Given the description of an element on the screen output the (x, y) to click on. 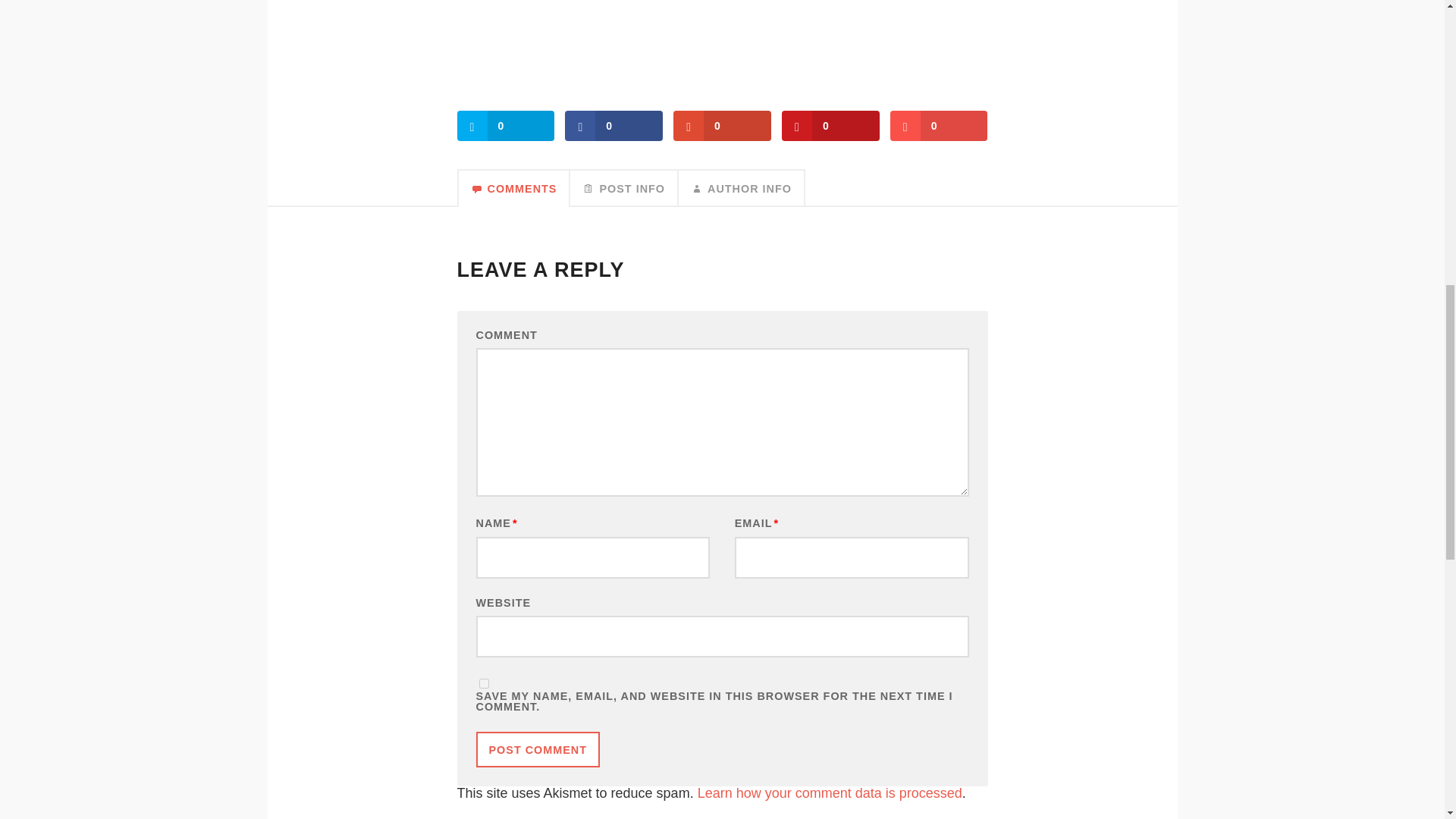
Advertisement (722, 43)
Learn how your comment data is processed (829, 792)
POST INFO (624, 187)
0 (613, 125)
0 (938, 125)
yes (484, 683)
0 (721, 125)
Post Comment (537, 749)
AUTHOR INFO (741, 187)
0 (505, 125)
Post Comment (537, 749)
0 (830, 125)
COMMENTS (513, 187)
